Given the description of an element on the screen output the (x, y) to click on. 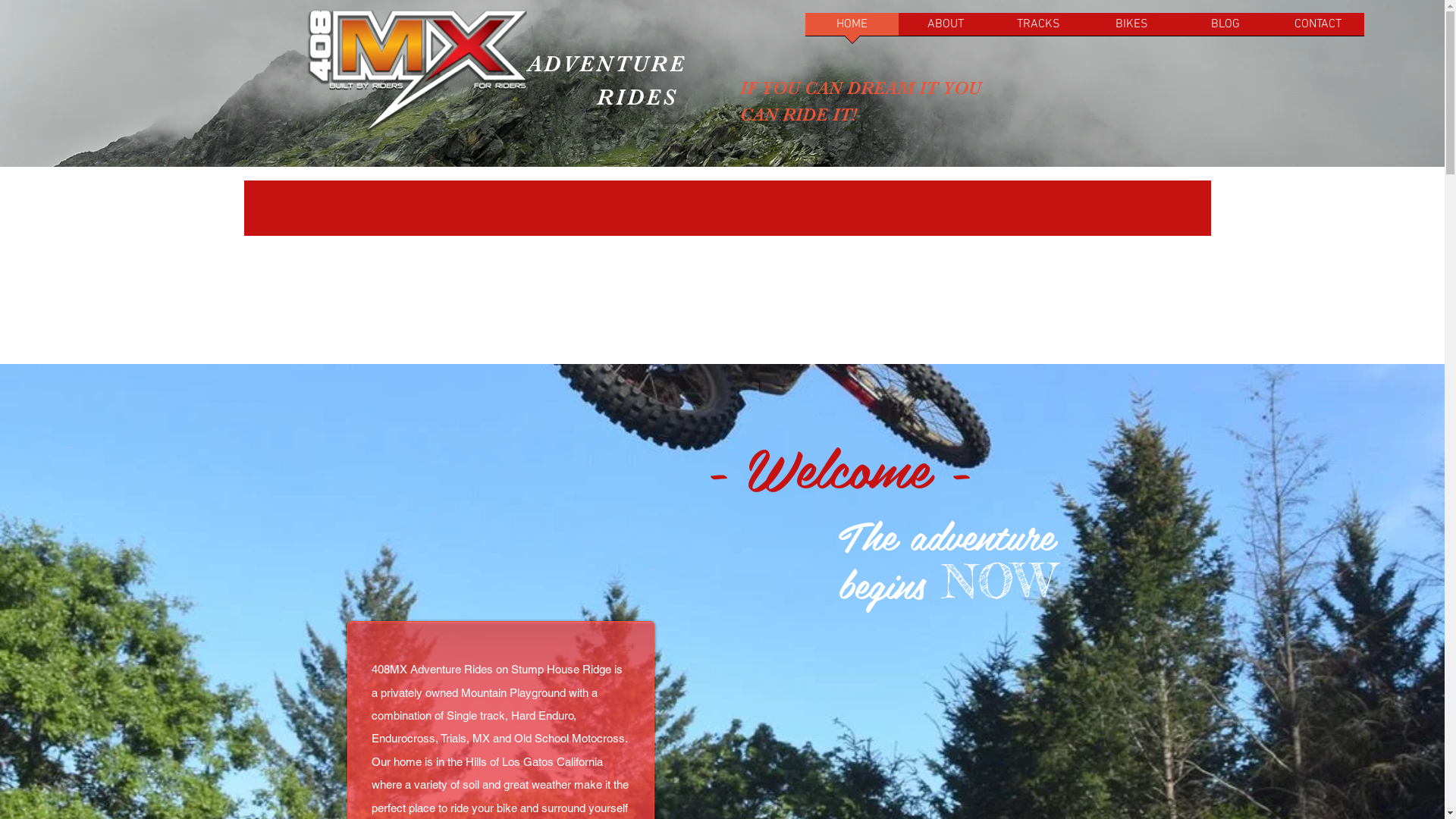
BLOG Element type: text (1224, 28)
BIKES Element type: text (1131, 28)
TRACKS Element type: text (1038, 28)
HOME Element type: text (851, 28)
CONTACT Element type: text (1317, 28)
ABOUT Element type: text (944, 28)
